Given the description of an element on the screen output the (x, y) to click on. 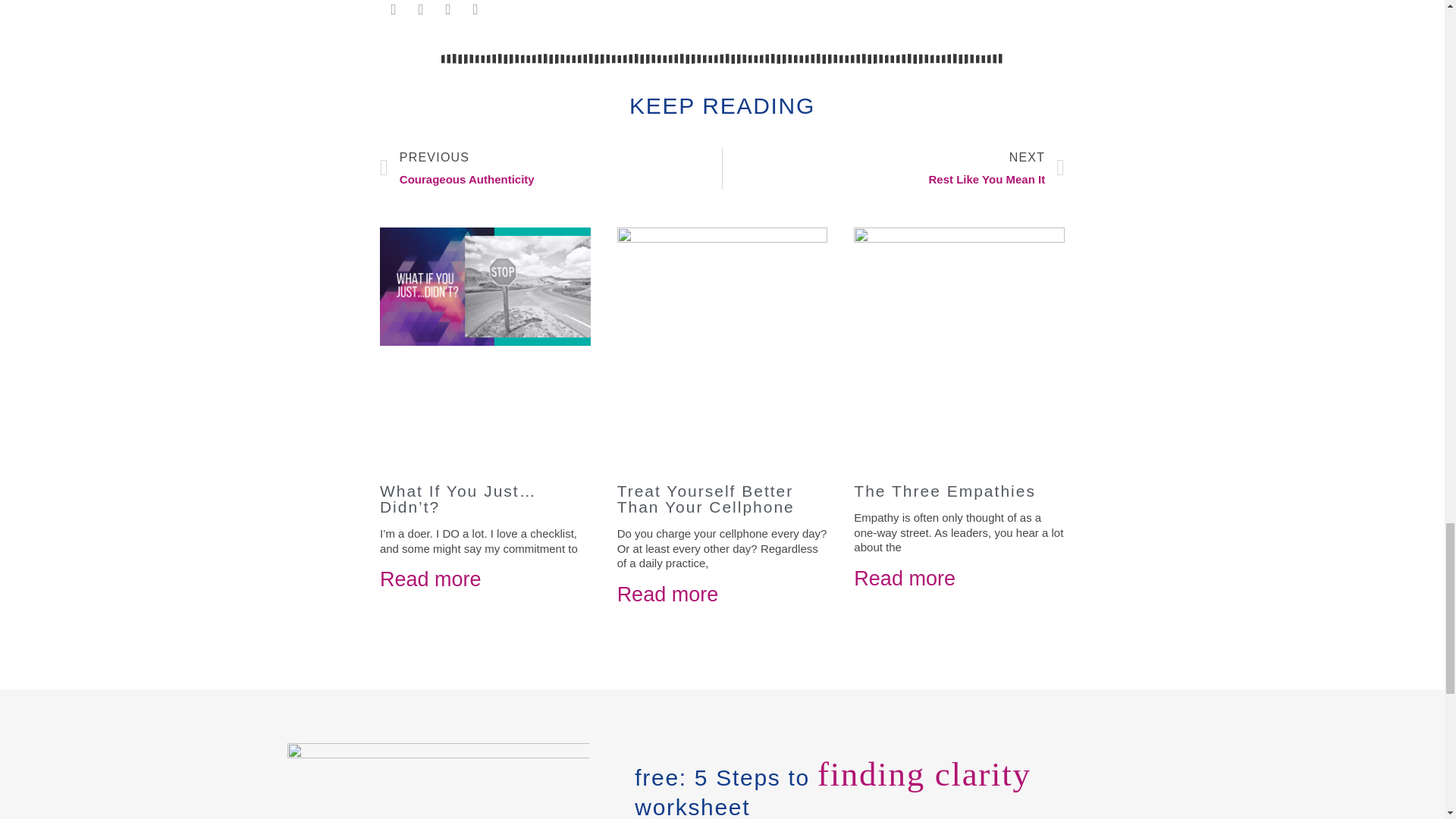
The Three Empathies (944, 490)
Read more (551, 168)
Treat Yourself Better Than Your Cellphone (893, 168)
Read more (904, 578)
Read more (705, 498)
